Given the description of an element on the screen output the (x, y) to click on. 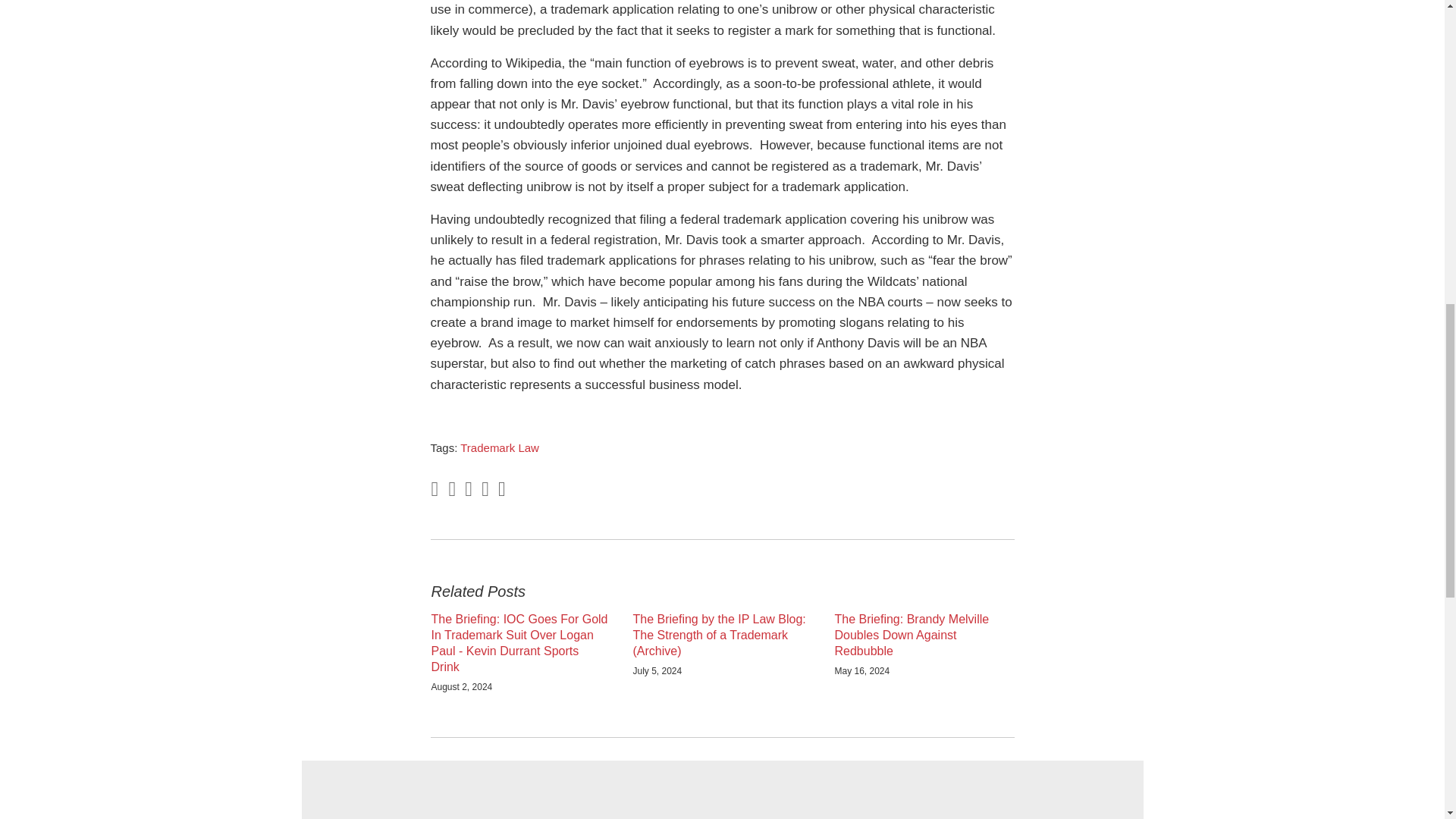
Trademark Law (499, 447)
The Briefing: Brandy Melville Doubles Down Against Redbubble (923, 635)
